Given the description of an element on the screen output the (x, y) to click on. 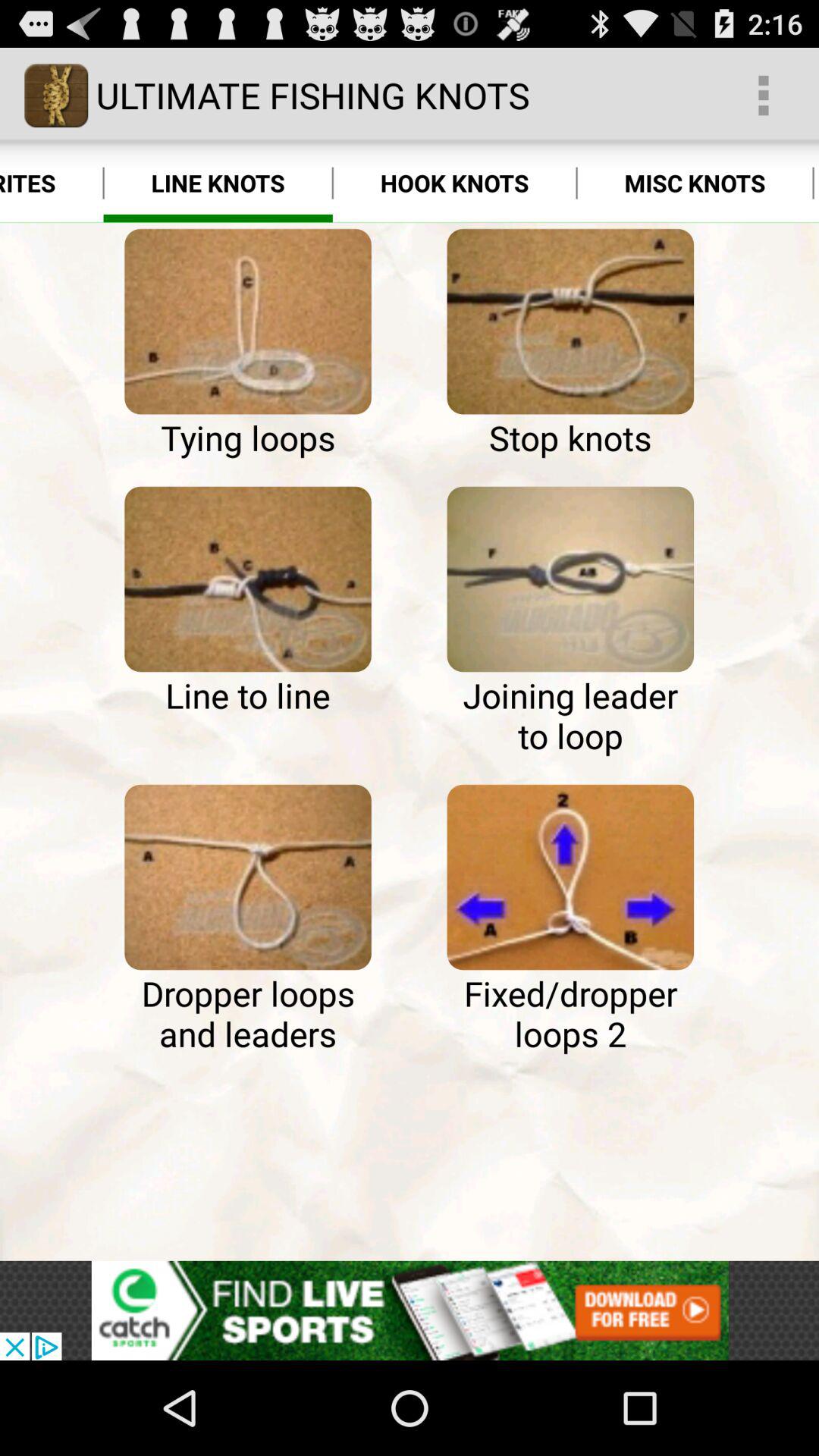
types of loop (570, 578)
